Given the description of an element on the screen output the (x, y) to click on. 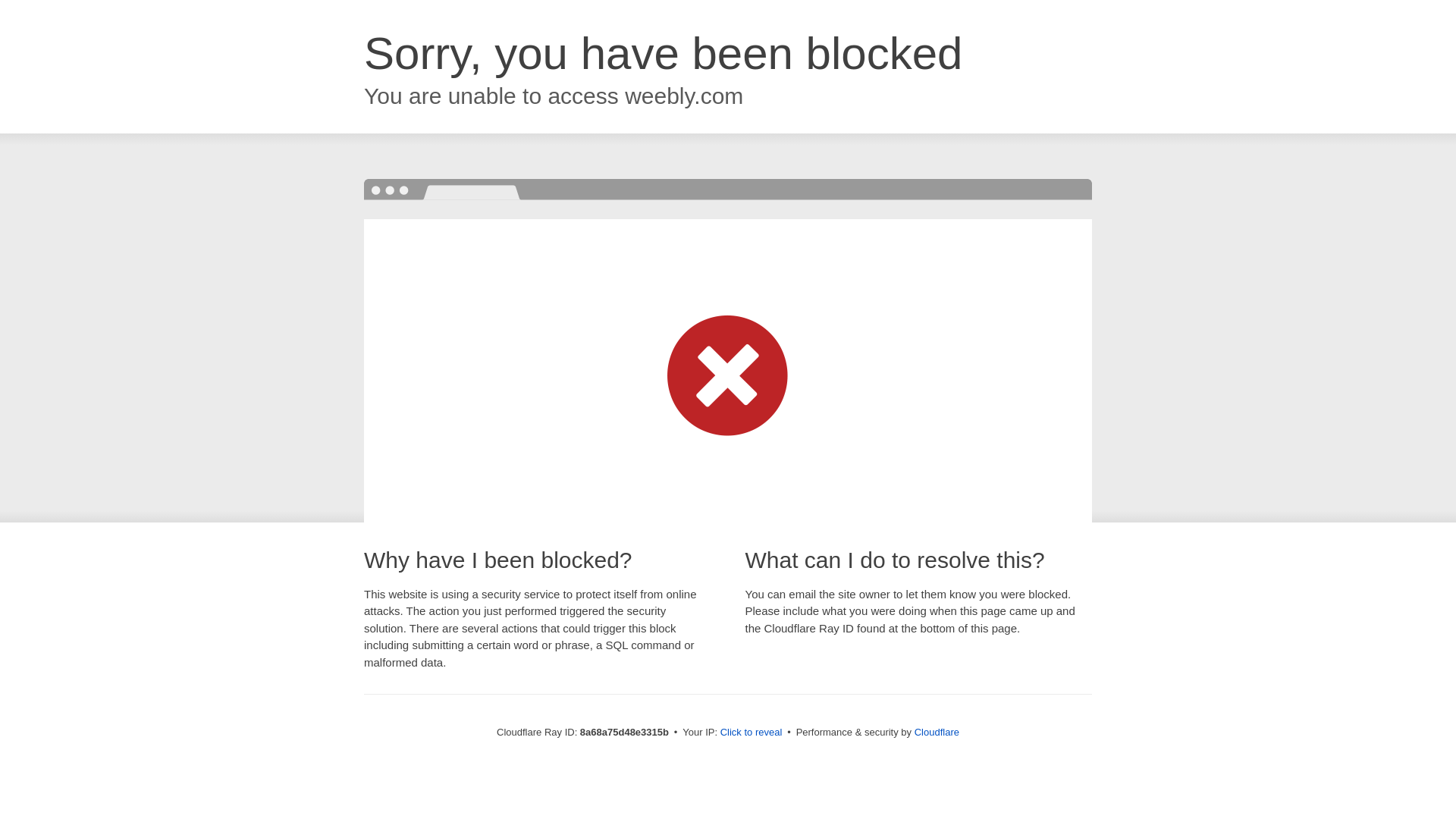
Click to reveal (751, 732)
Cloudflare (936, 731)
